Given the description of an element on the screen output the (x, y) to click on. 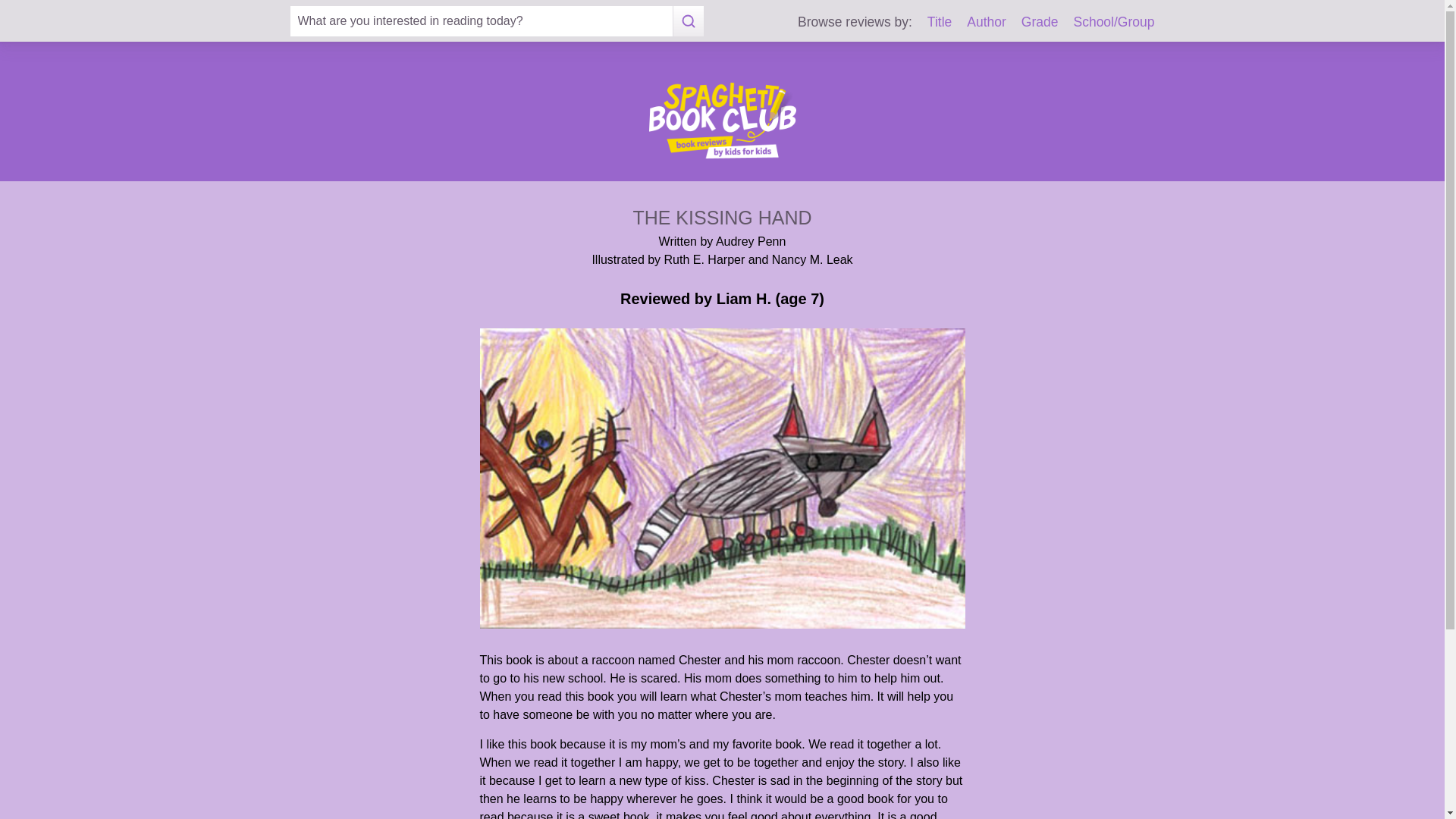
Author (986, 21)
Title (939, 21)
Grade (1040, 21)
